Given the description of an element on the screen output the (x, y) to click on. 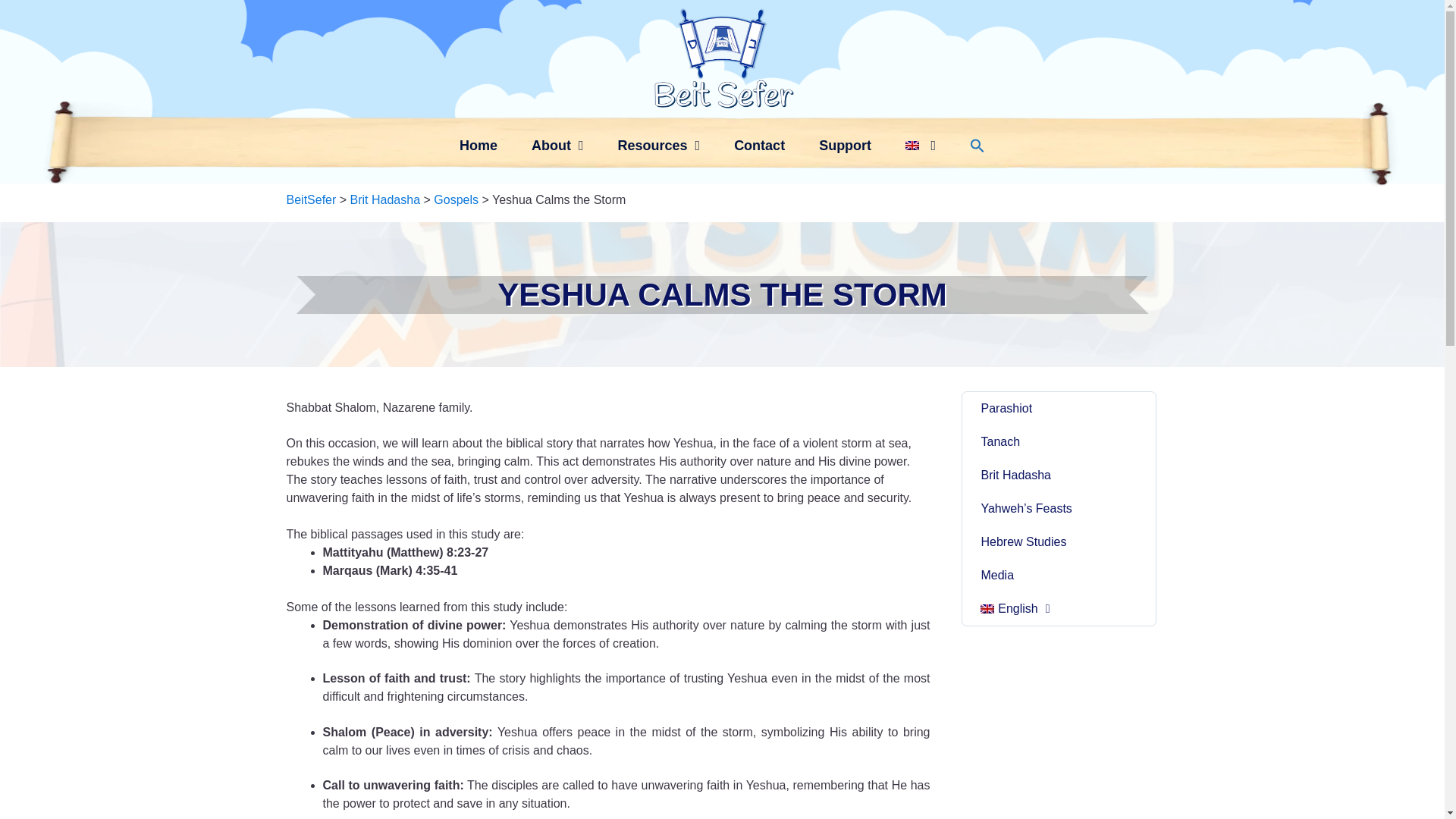
Resources (658, 144)
Go to Brit Hadasha. (385, 199)
About (557, 144)
Go to BeitSefer. (311, 199)
papyrus-scroll-V4 (721, 142)
Support (844, 144)
Home (478, 144)
English (1059, 609)
Contact (759, 144)
Go to the Gospels Brit Hadasha Category archives. (456, 199)
